Given the description of an element on the screen output the (x, y) to click on. 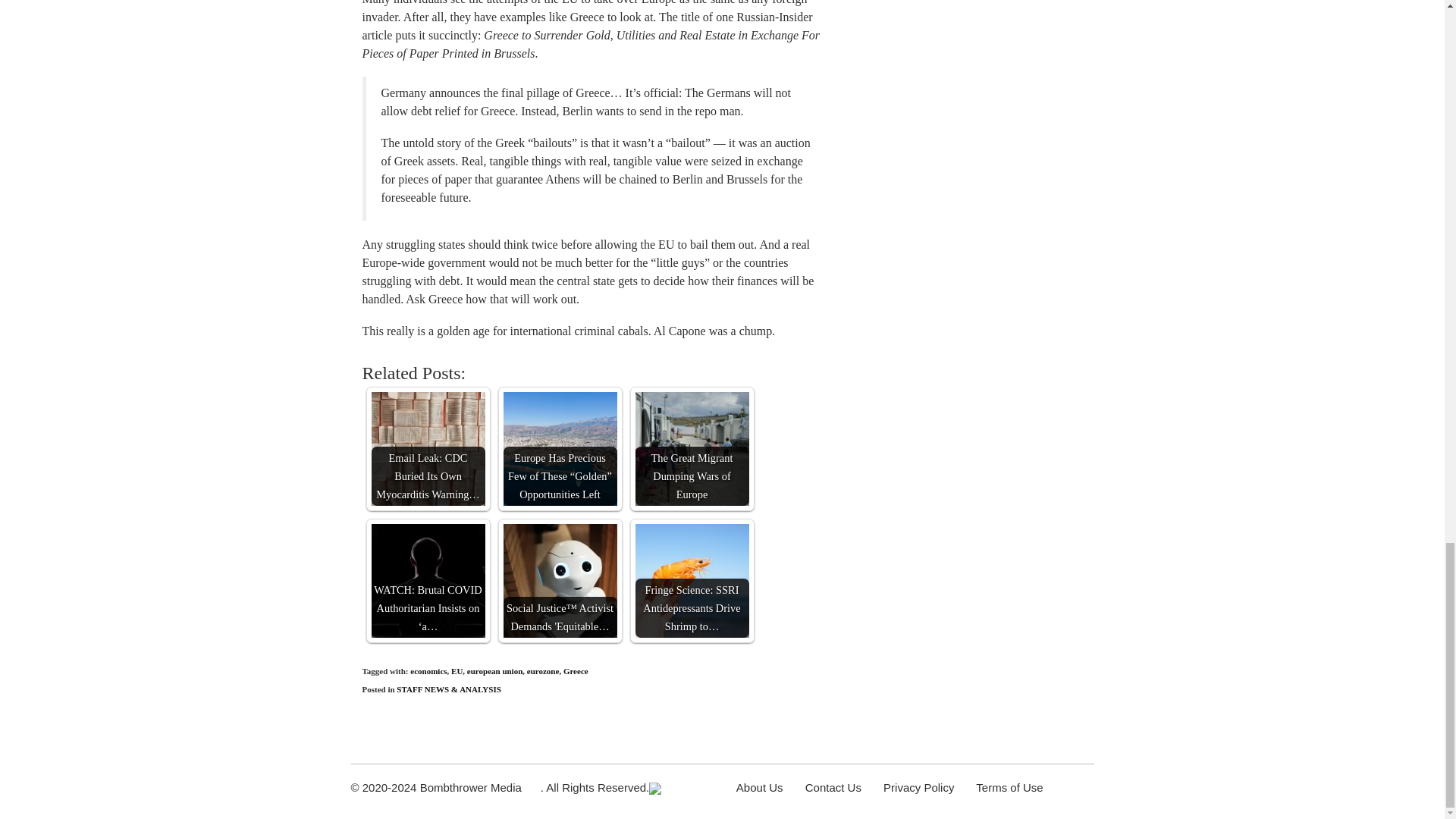
european union (494, 670)
Privacy Policy (918, 787)
economics (428, 670)
Greece (575, 670)
The Great Migrant Dumping Wars of Europe (691, 449)
eurozone (543, 670)
The Great Migrant Dumping Wars of Europe (691, 449)
EU (457, 670)
